Given the description of an element on the screen output the (x, y) to click on. 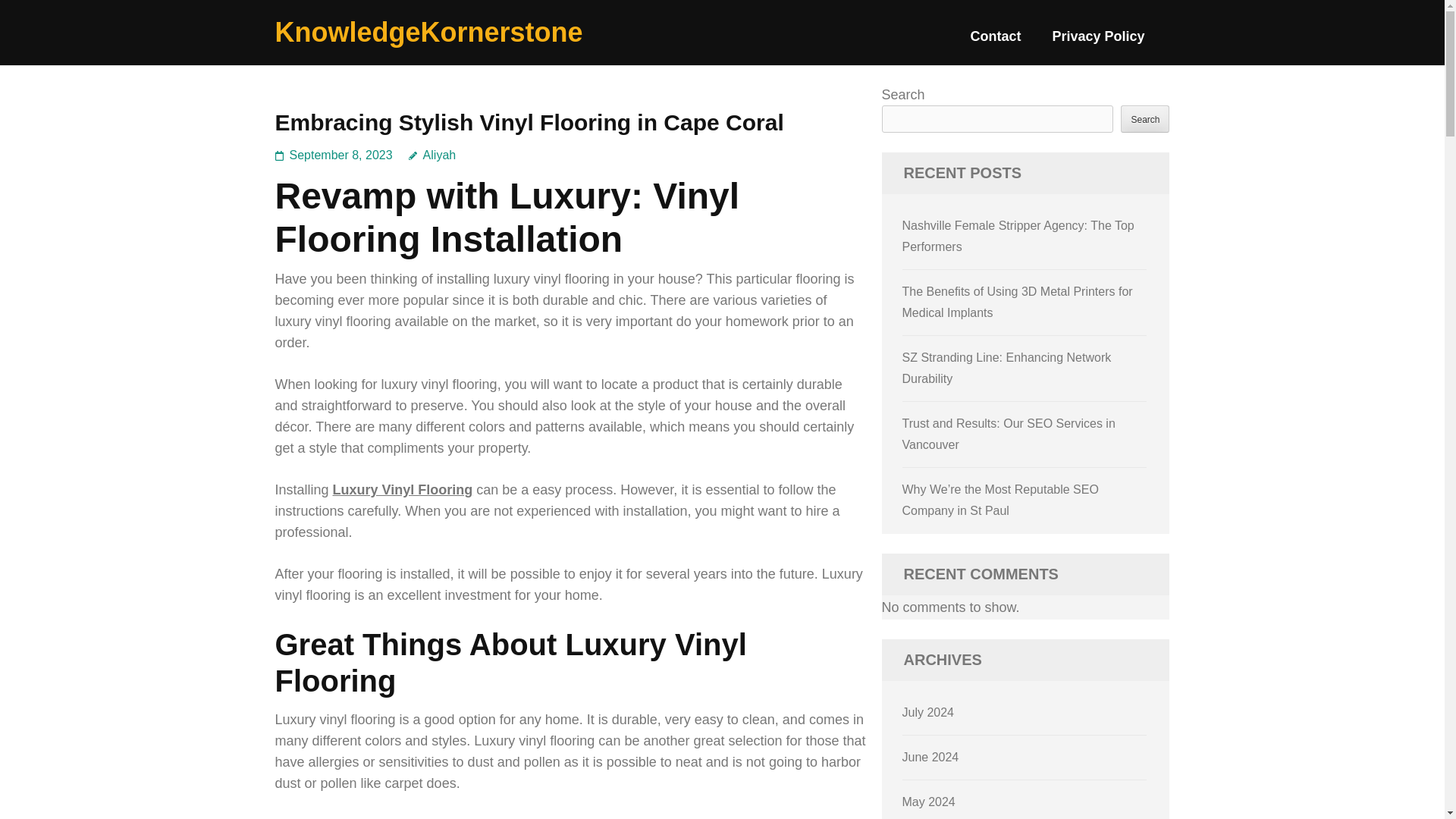
KnowledgeKornerstone (428, 31)
Privacy Policy (1097, 42)
SZ Stranding Line: Enhancing Network Durability (1007, 367)
September 8, 2023 (341, 154)
Aliyah (433, 154)
Search (1145, 118)
Nashville Female Stripper Agency: The Top Performers (1018, 236)
May 2024 (928, 801)
Contact (994, 42)
Trust and Results: Our SEO Services in Vancouver (1008, 433)
June 2024 (930, 757)
The Benefits of Using 3D Metal Printers for Medical Implants (1017, 302)
Luxury Vinyl Flooring (403, 489)
July 2024 (928, 712)
